Given the description of an element on the screen output the (x, y) to click on. 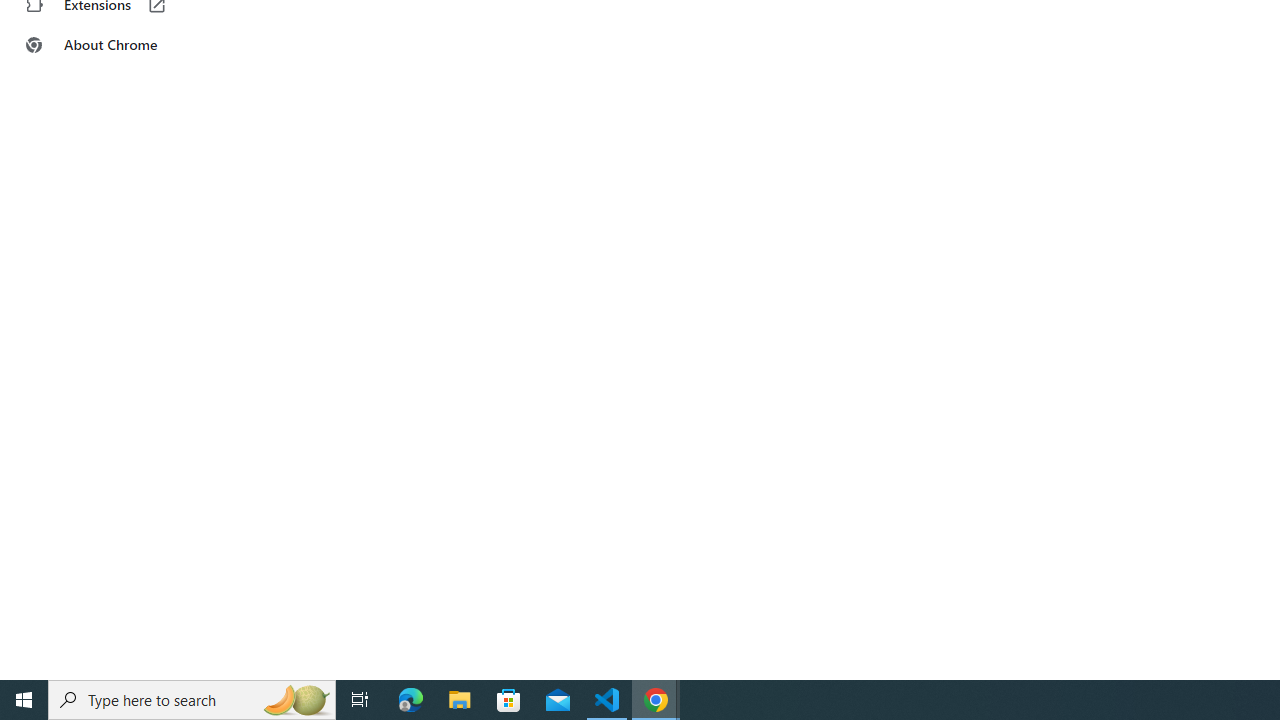
Google Chrome - 2 running windows (656, 699)
Task View (359, 699)
File Explorer (460, 699)
Visual Studio Code - 1 running window (607, 699)
About Chrome (124, 44)
Microsoft Edge (411, 699)
Microsoft Store (509, 699)
Type here to search (191, 699)
Search highlights icon opens search home window (295, 699)
Start (24, 699)
